Given the description of an element on the screen output the (x, y) to click on. 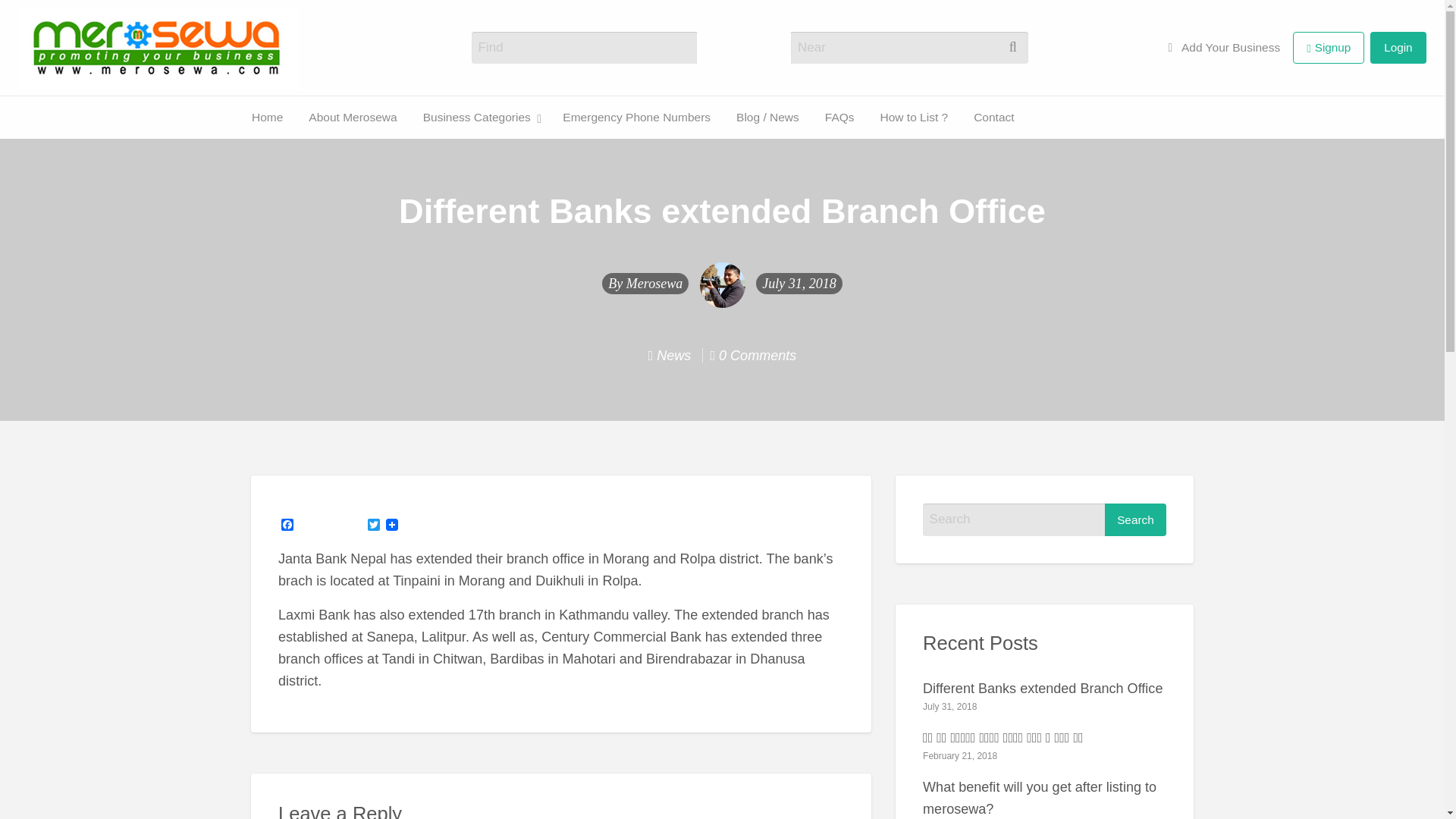
Search (820, 47)
Business Categories (29, 146)
Search (1135, 519)
Search (1135, 519)
